Given the description of an element on the screen output the (x, y) to click on. 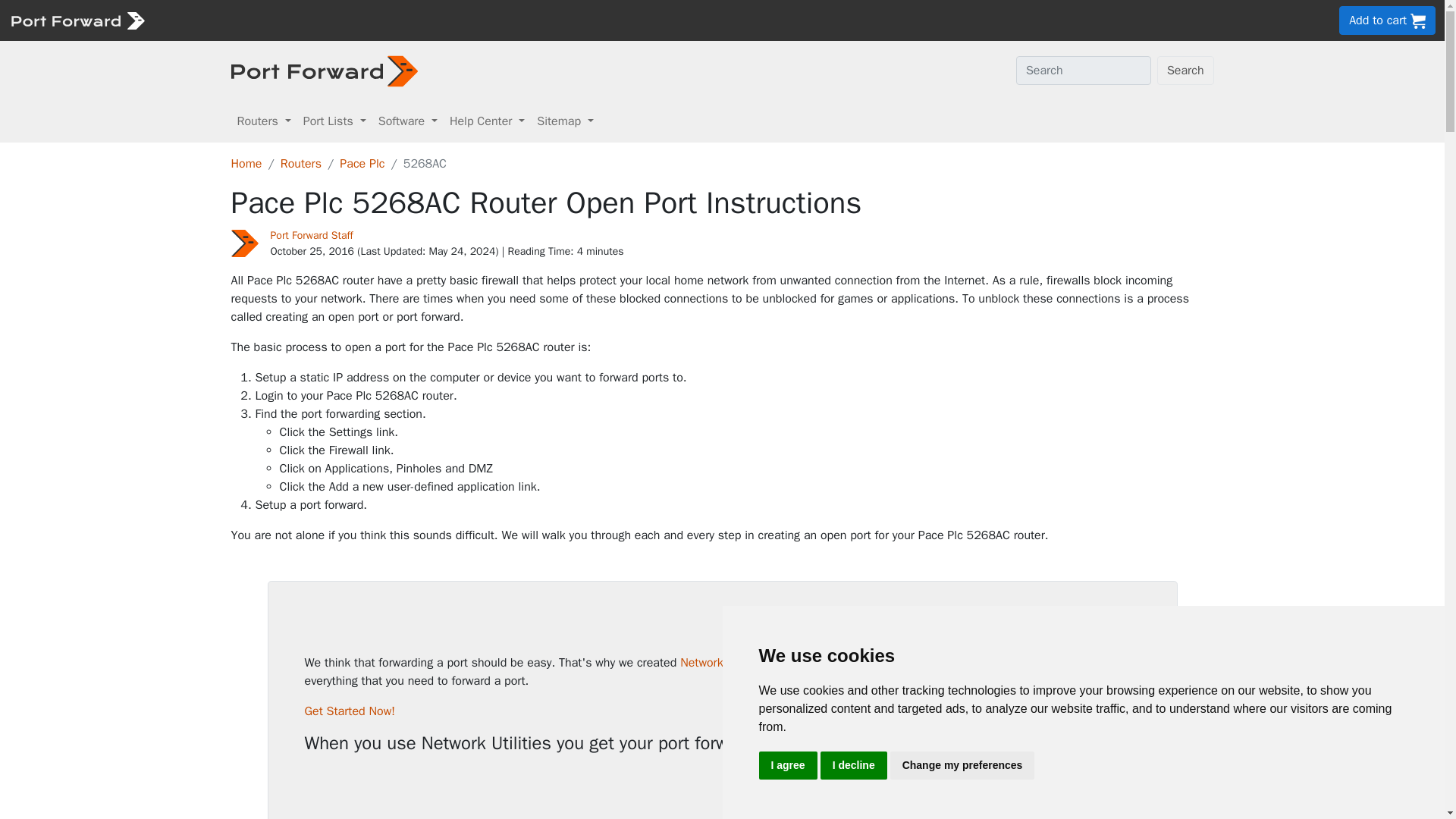
Port Lists (334, 121)
I decline (853, 765)
Change my preferences (962, 765)
Routers (263, 121)
I agree (787, 765)
Search (1185, 70)
Add to cart (1387, 20)
